Given the description of an element on the screen output the (x, y) to click on. 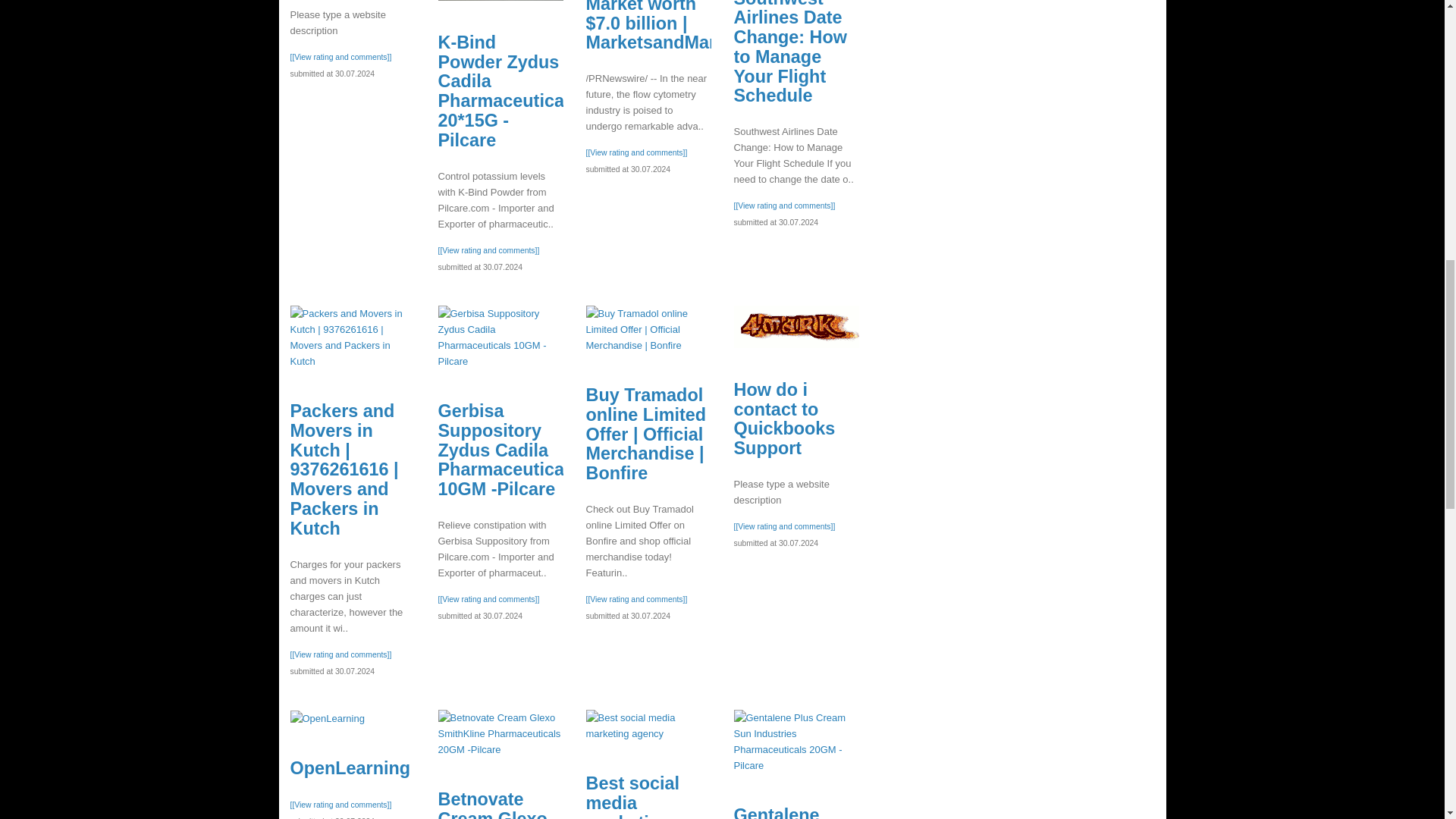
Best social media marketing agency (647, 726)
OpenLearning (349, 768)
How do i contact to Quickbooks Support (796, 326)
How do i contact to Quickbooks Support (784, 418)
